Given the description of an element on the screen output the (x, y) to click on. 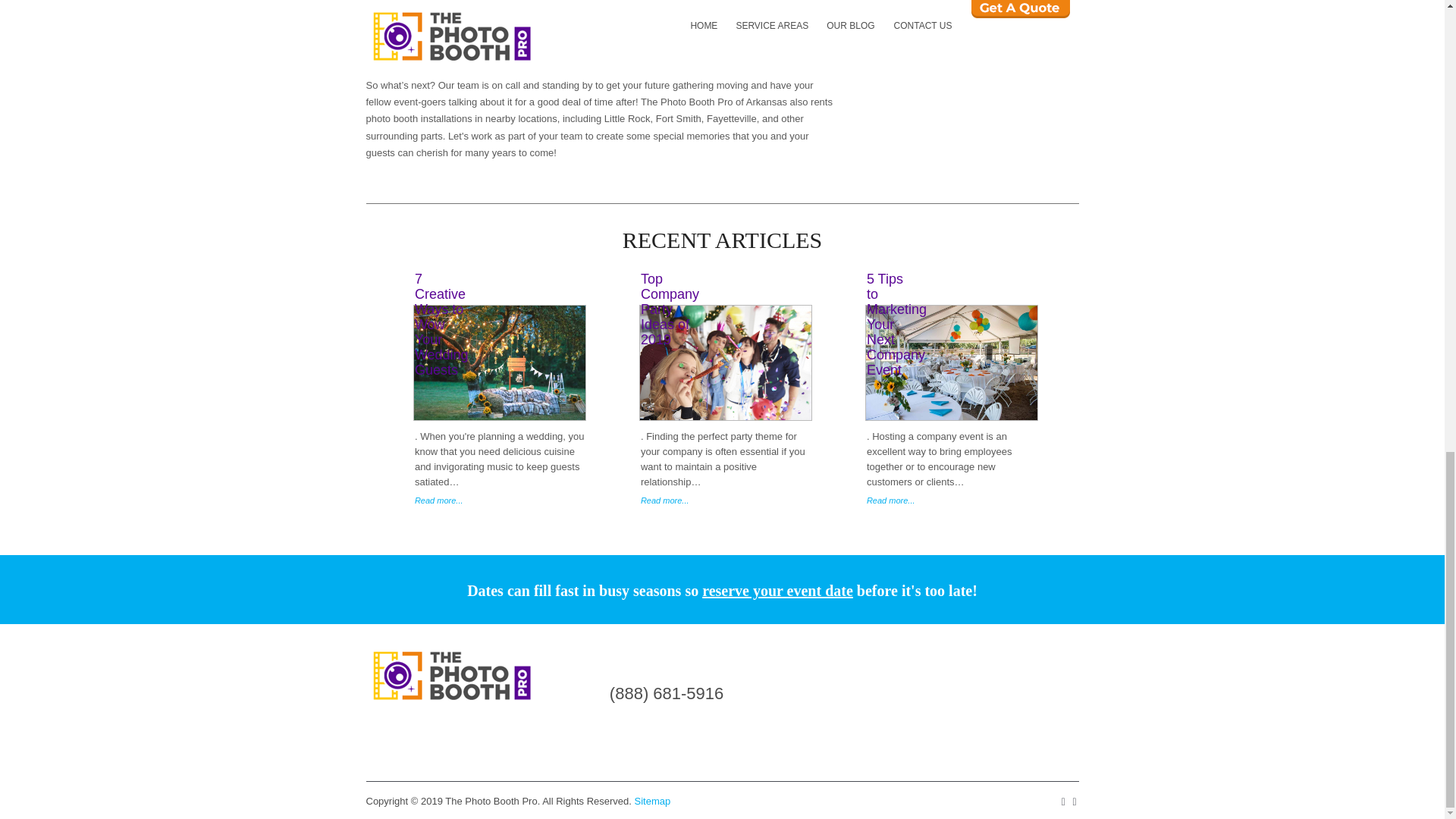
Photo Booth Rental (450, 677)
Read more... (500, 500)
Sitemap (652, 800)
Read more... (726, 500)
Read more... (952, 500)
